Given the description of an element on the screen output the (x, y) to click on. 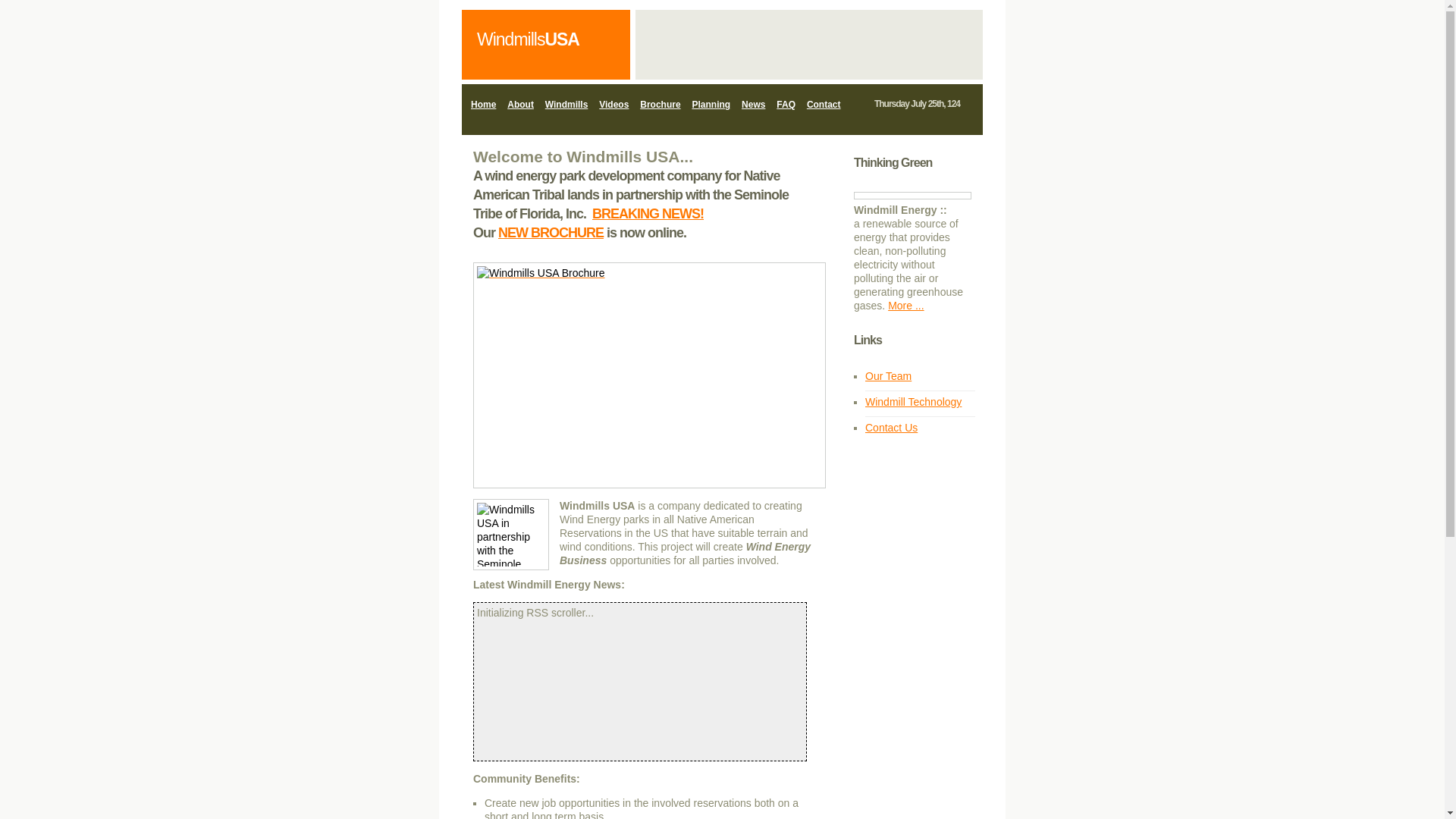
Contact (823, 104)
Home (483, 104)
About (520, 104)
Videos (613, 104)
Contact Us (890, 427)
NEW BROCHURE (550, 232)
BREAKING NEWS! (647, 213)
Windmills (566, 104)
Our Team (887, 376)
FAQ (785, 104)
News (753, 104)
Brochure (659, 104)
Planning (710, 104)
More ... (905, 305)
Windmill Technology (912, 401)
